Given the description of an element on the screen output the (x, y) to click on. 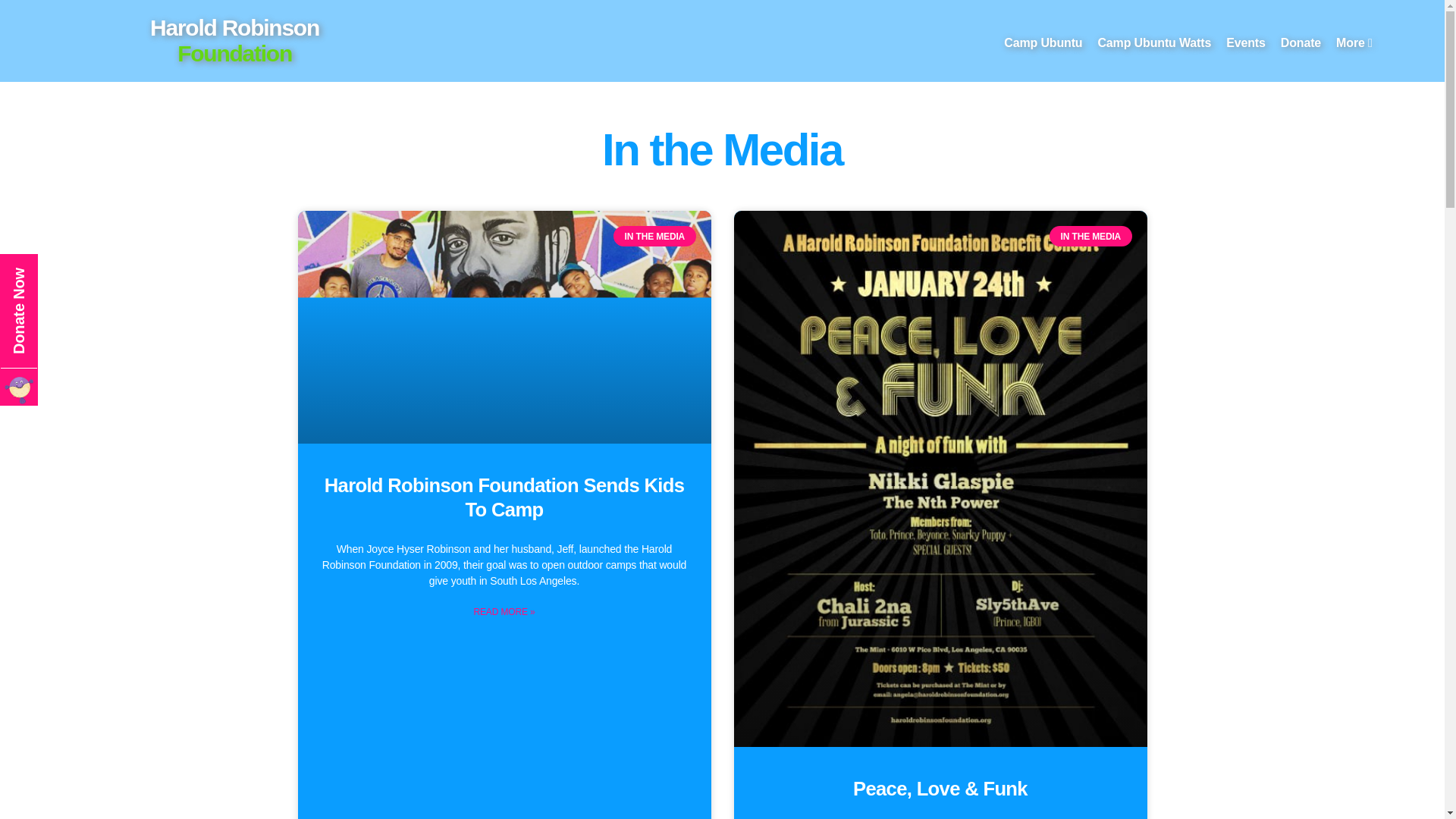
Camp Ubuntu Watts (1154, 42)
Donate (1300, 42)
Events (1245, 42)
Donate Now (56, 272)
More (233, 40)
Harold Robinson Foundation Sends Kids To Camp (1354, 42)
Camp Ubuntu (504, 497)
